Given the description of an element on the screen output the (x, y) to click on. 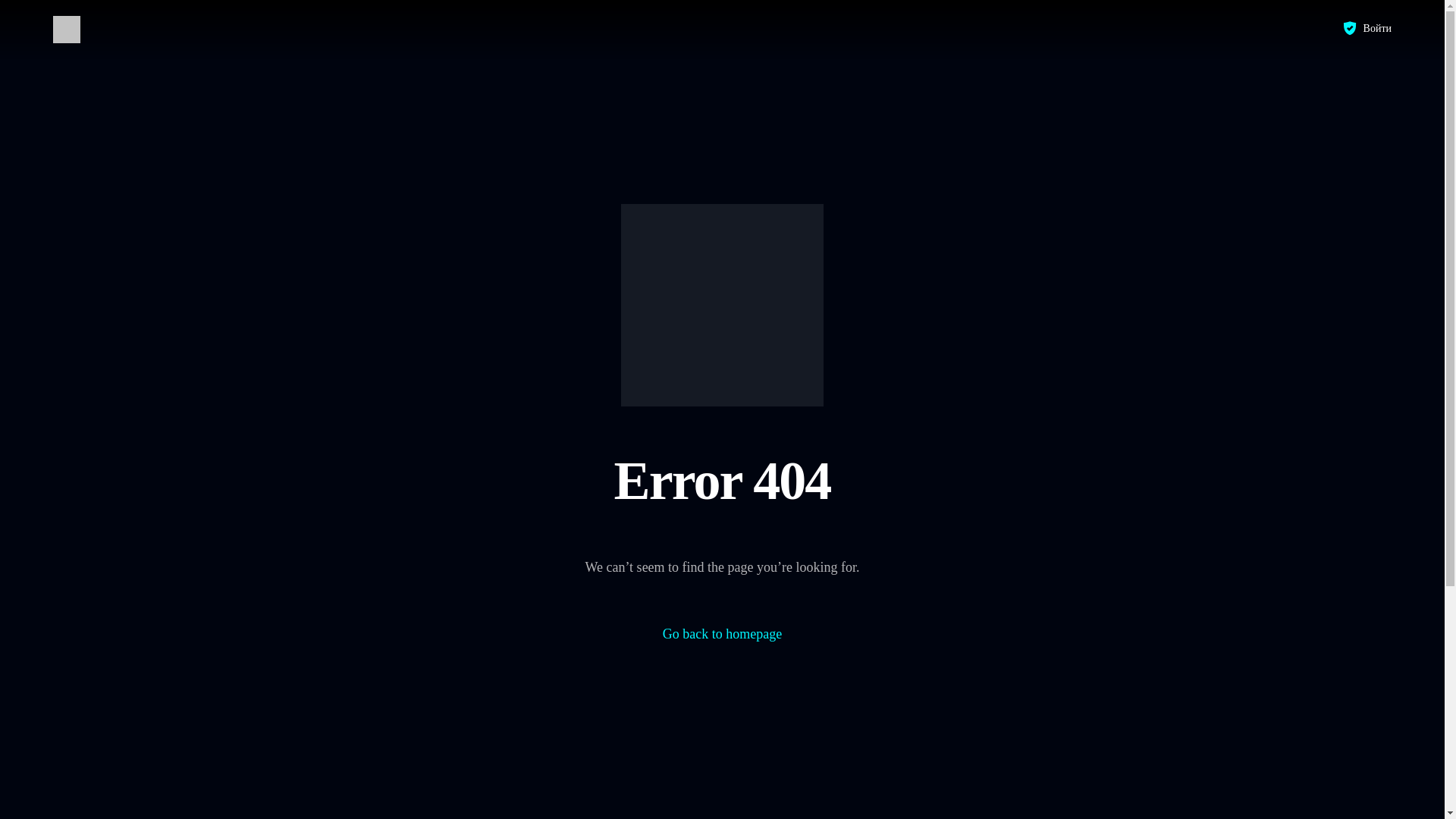
Go back to homepage Element type: text (721, 634)
